Given the description of an element on the screen output the (x, y) to click on. 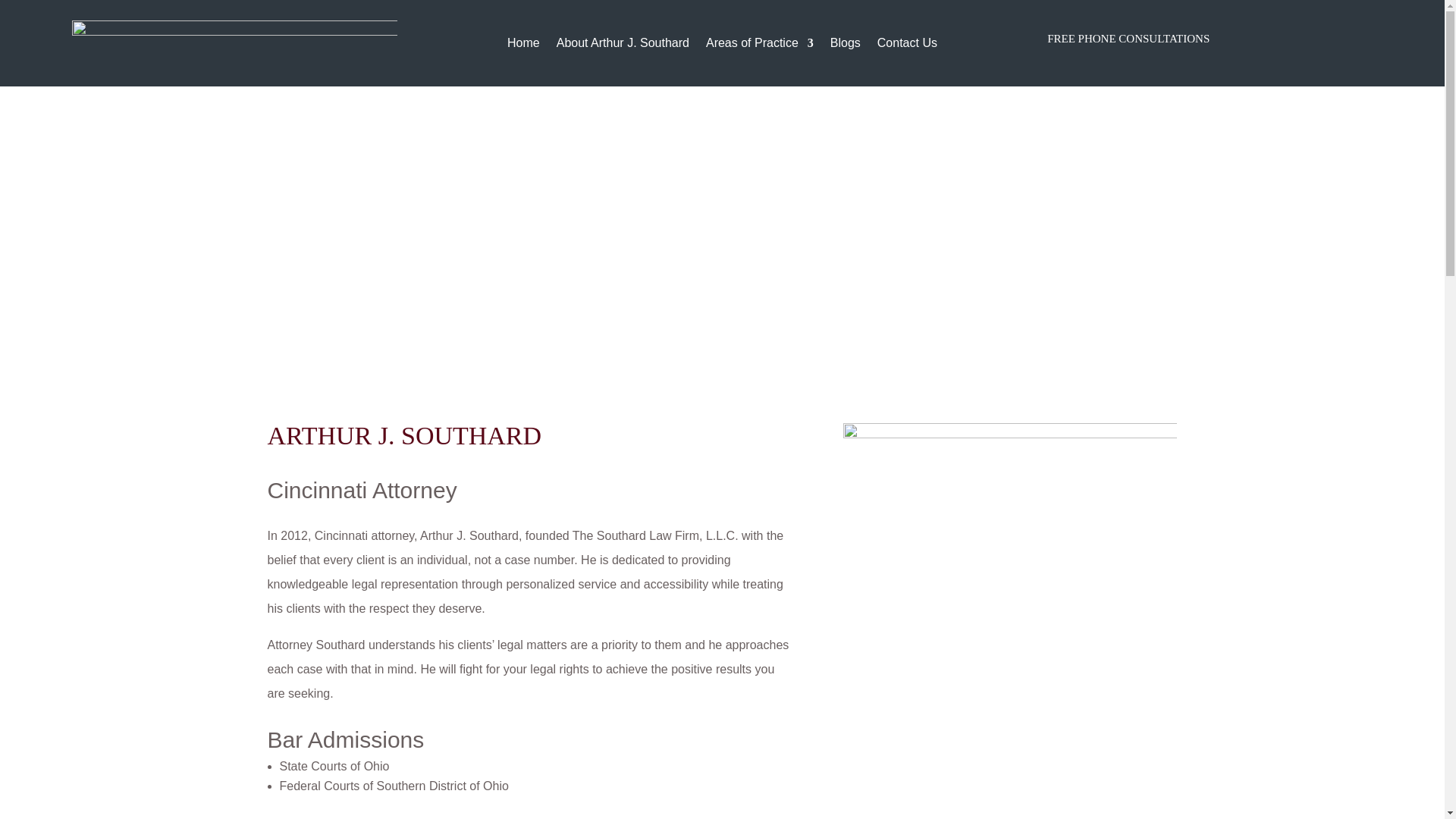
About Arthur J. Southard (622, 45)
Contact Us (907, 45)
Areas of Practice (759, 45)
Logo2 (234, 43)
Blogs (844, 45)
Home (523, 45)
